Given the description of an element on the screen output the (x, y) to click on. 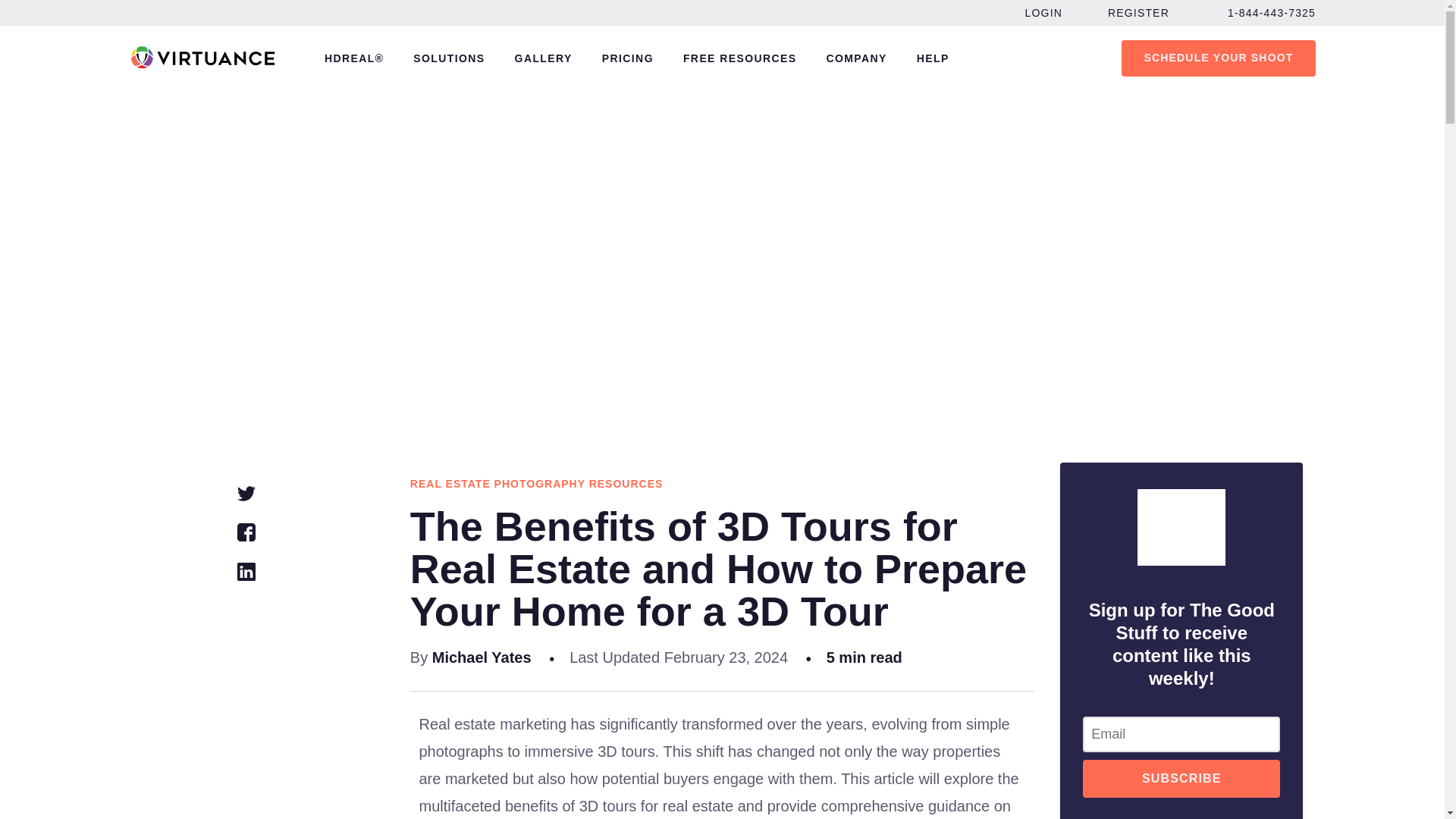
REGISTER (1138, 12)
1-844-443-7325 (1271, 12)
LOGIN (1043, 12)
FREE RESOURCES (739, 57)
SOLUTIONS (448, 57)
COMPANY (855, 57)
Subscribe (1181, 778)
